Given the description of an element on the screen output the (x, y) to click on. 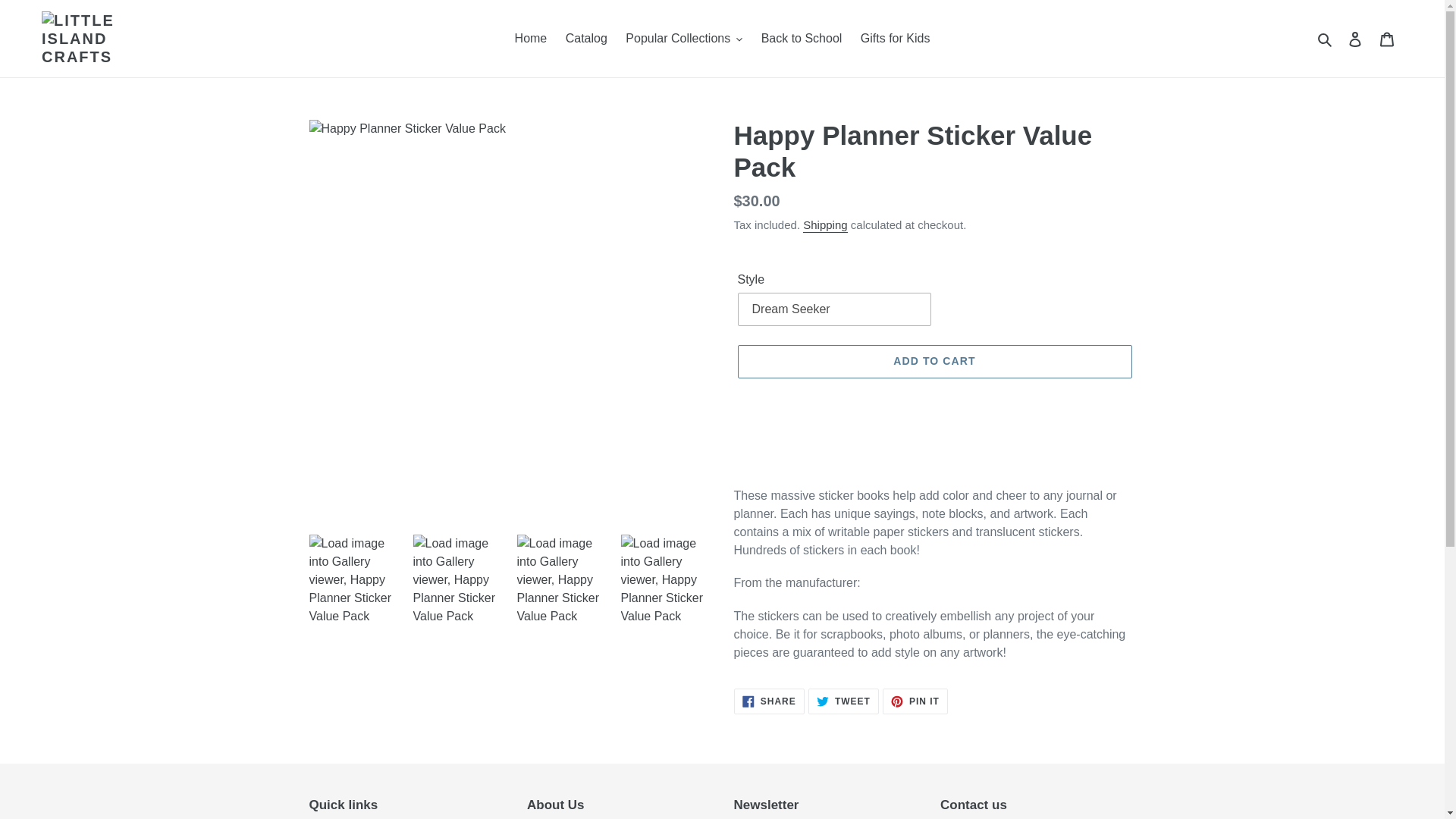
Catalog (585, 38)
Back to School (802, 38)
Search (1326, 38)
Popular Collections (683, 38)
Cart (1387, 38)
Home (530, 38)
Gifts for Kids (895, 38)
Log in (1355, 38)
